Given the description of an element on the screen output the (x, y) to click on. 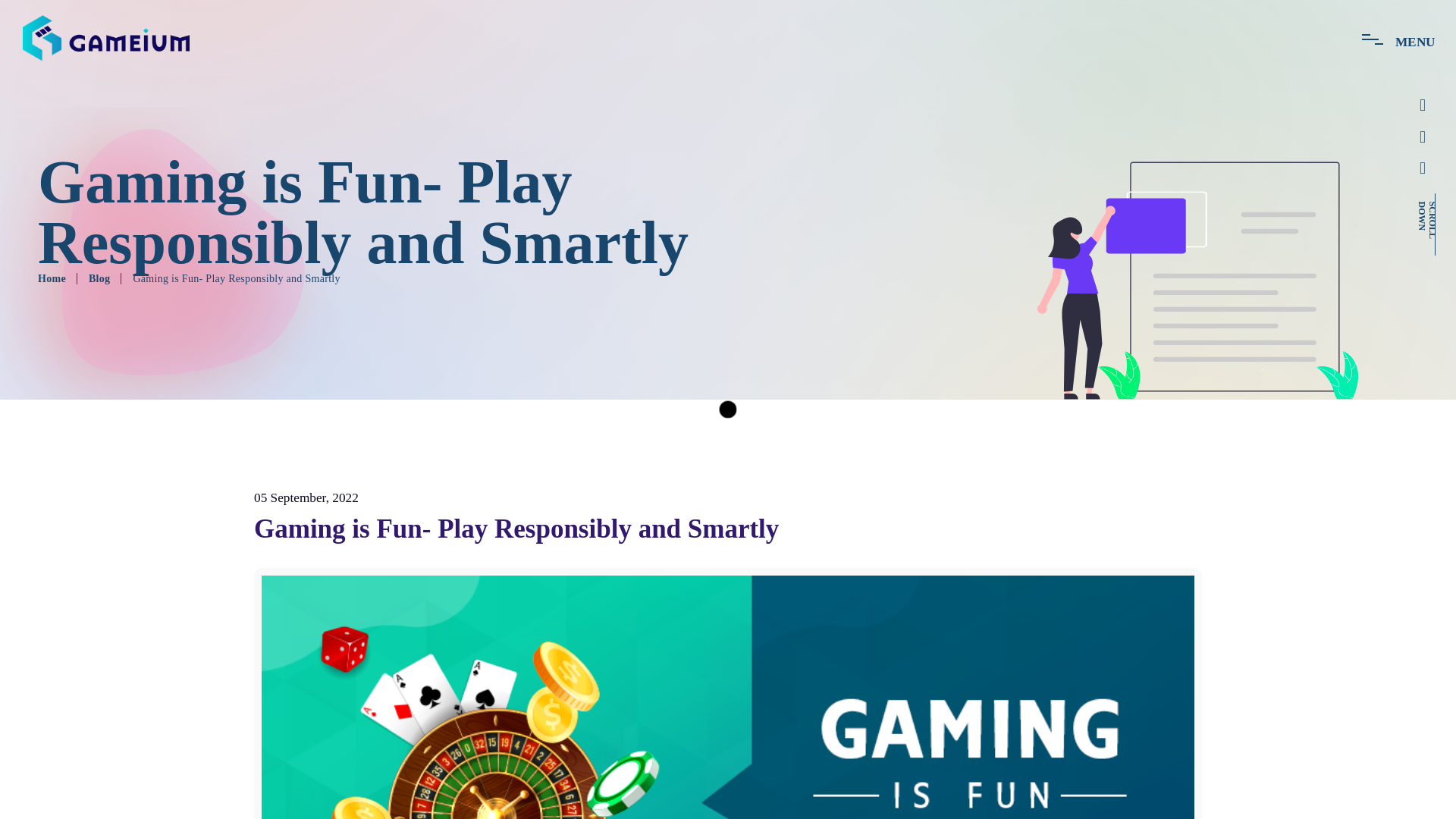
Home (51, 278)
Blog (99, 278)
